Given the description of an element on the screen output the (x, y) to click on. 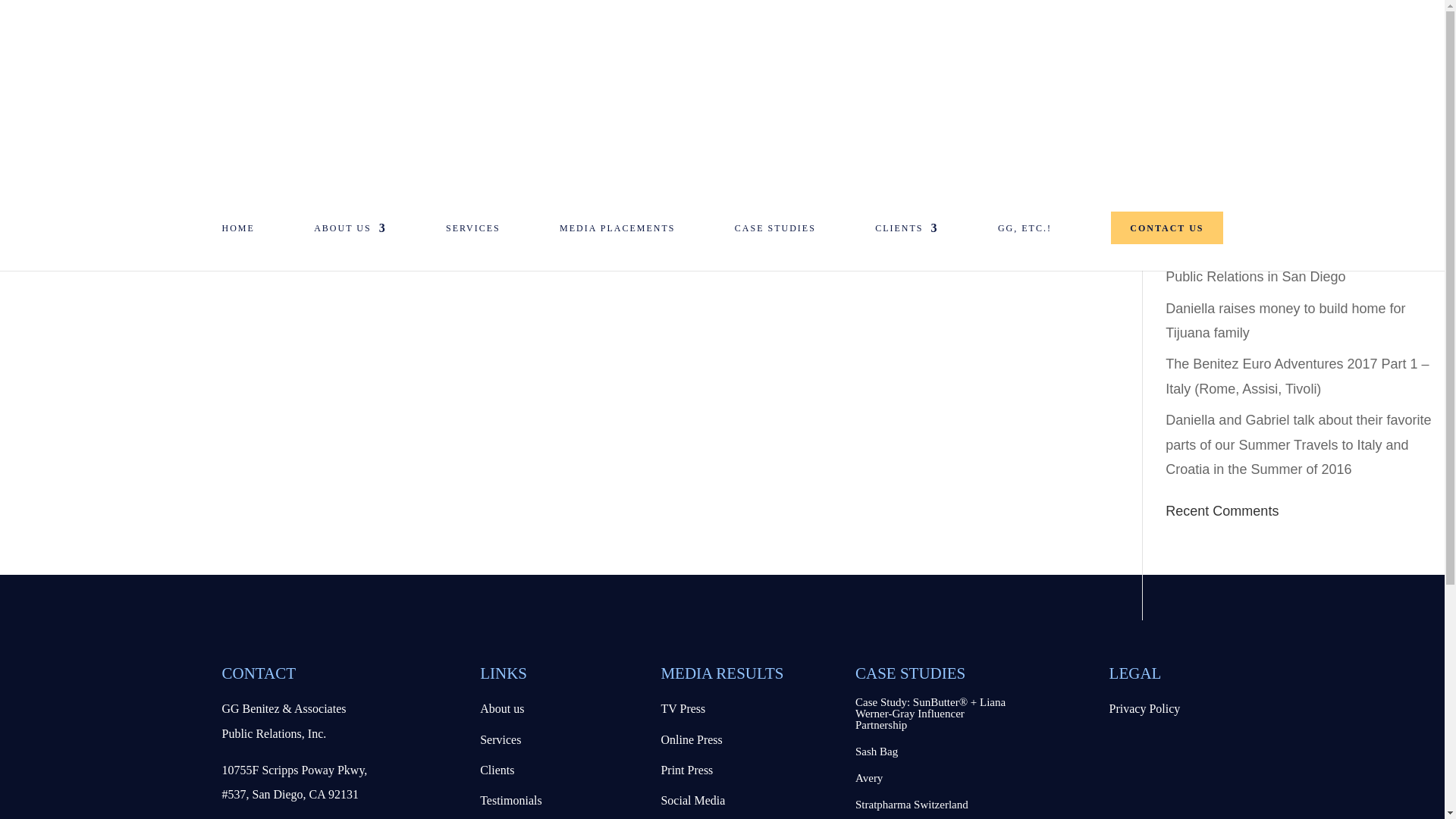
Social Media (693, 799)
Online Press (691, 739)
Sash Bag (877, 751)
CLIENTS (906, 233)
Print Press (687, 769)
Services (500, 739)
GG, ETC.! (1024, 233)
CASE STUDIES (775, 233)
About us (502, 707)
CONTACT US (1166, 227)
